Given the description of an element on the screen output the (x, y) to click on. 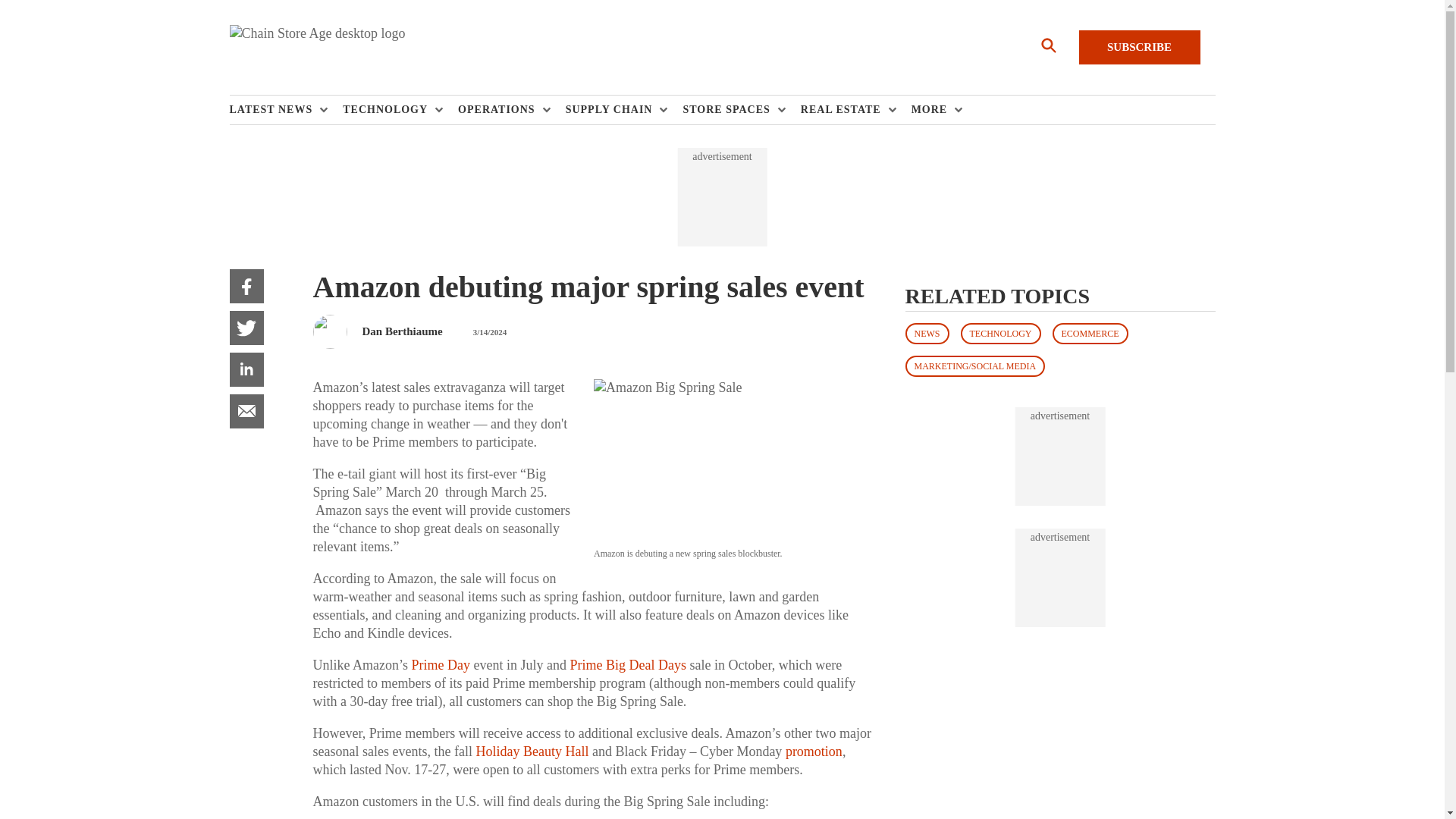
OPERATIONS (500, 109)
SUPPLY CHAIN (613, 109)
SUBSCRIBE (1138, 47)
STORE SPACES (729, 109)
TECHNOLOGY (388, 109)
linkedIn (245, 369)
email (245, 410)
twitter (245, 327)
LATEST NEWS (274, 109)
facebook (245, 286)
